Given the description of an element on the screen output the (x, y) to click on. 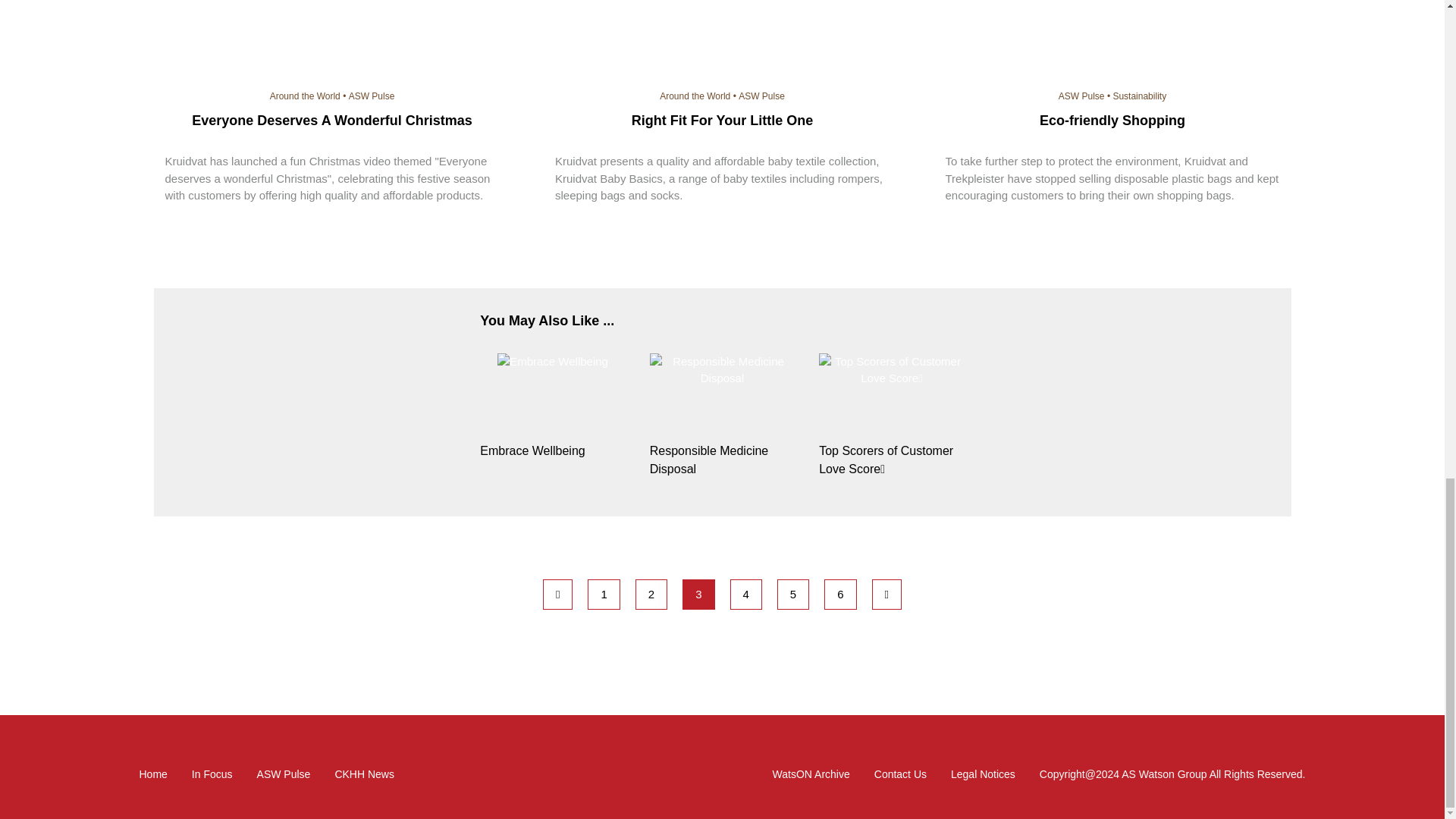
Responsible Medicine Disposal (721, 460)
Embrace Wellbeing (553, 361)
Embrace Wellbeing (553, 451)
Responsible Medicine Disposal (721, 369)
